Given the description of an element on the screen output the (x, y) to click on. 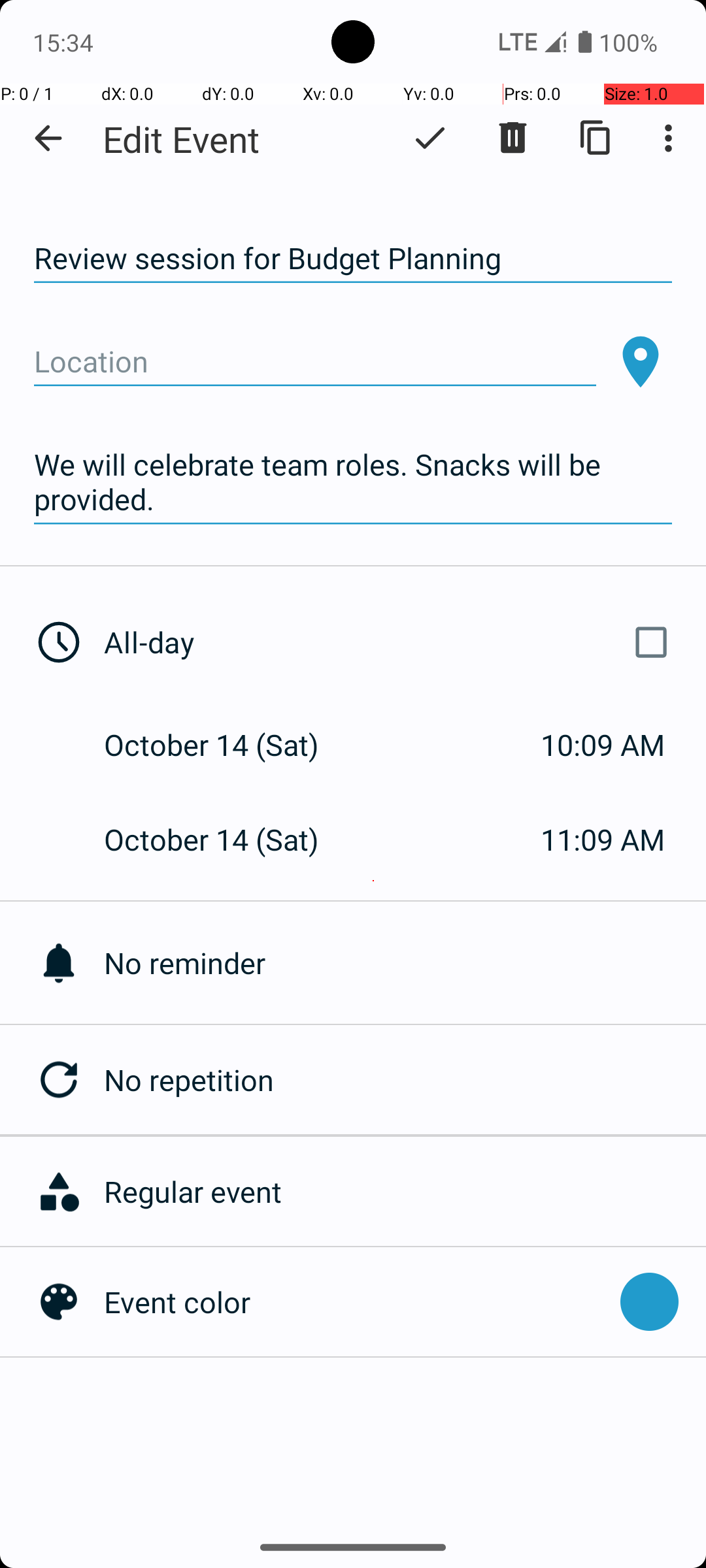
We will celebrate team roles. Snacks will be provided. Element type: android.widget.EditText (352, 482)
October 14 (Sat) Element type: android.widget.TextView (224, 744)
10:09 AM Element type: android.widget.TextView (602, 744)
11:09 AM Element type: android.widget.TextView (602, 838)
